Given the description of an element on the screen output the (x, y) to click on. 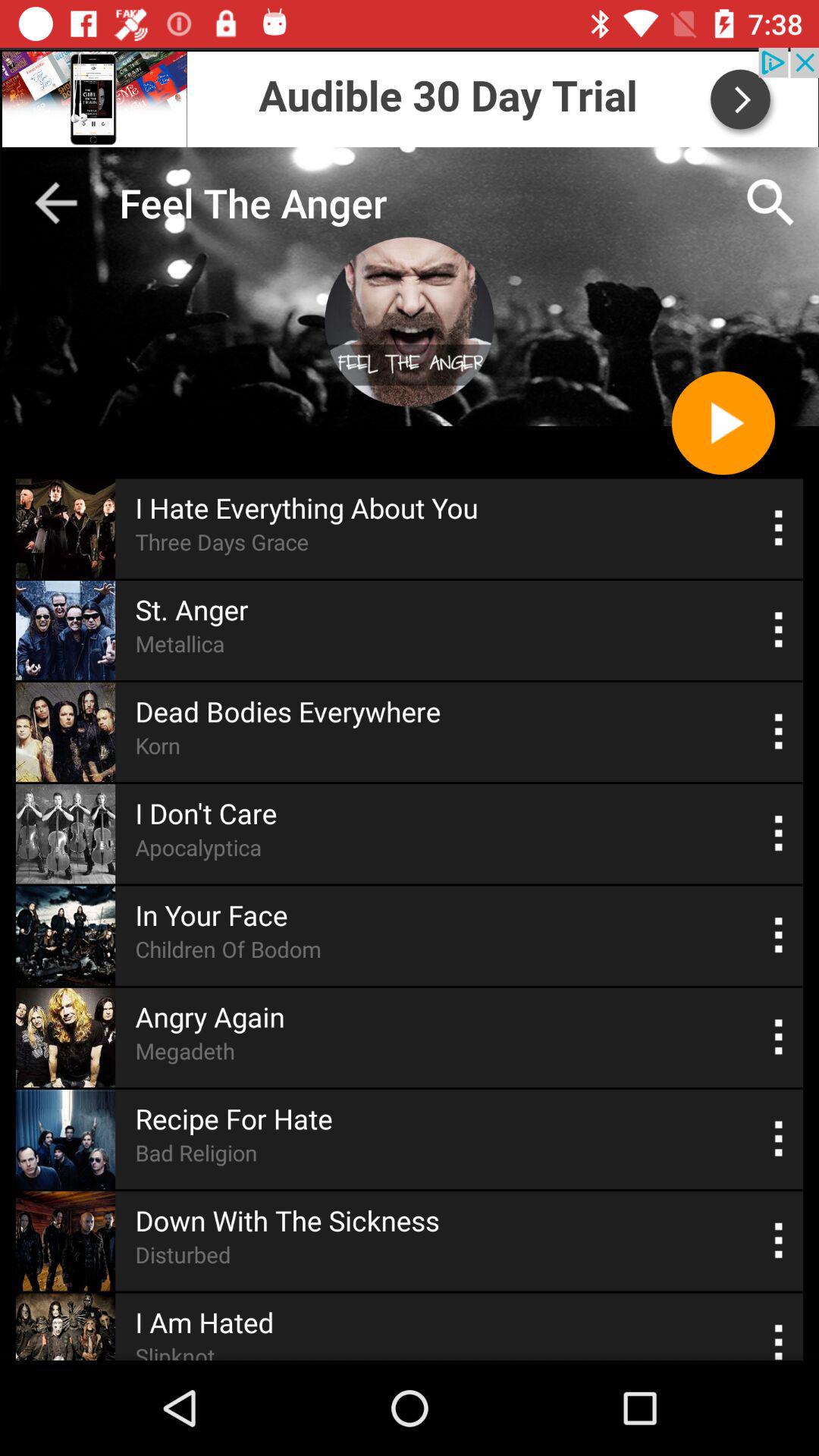
advertisement banner (409, 97)
